Given the description of an element on the screen output the (x, y) to click on. 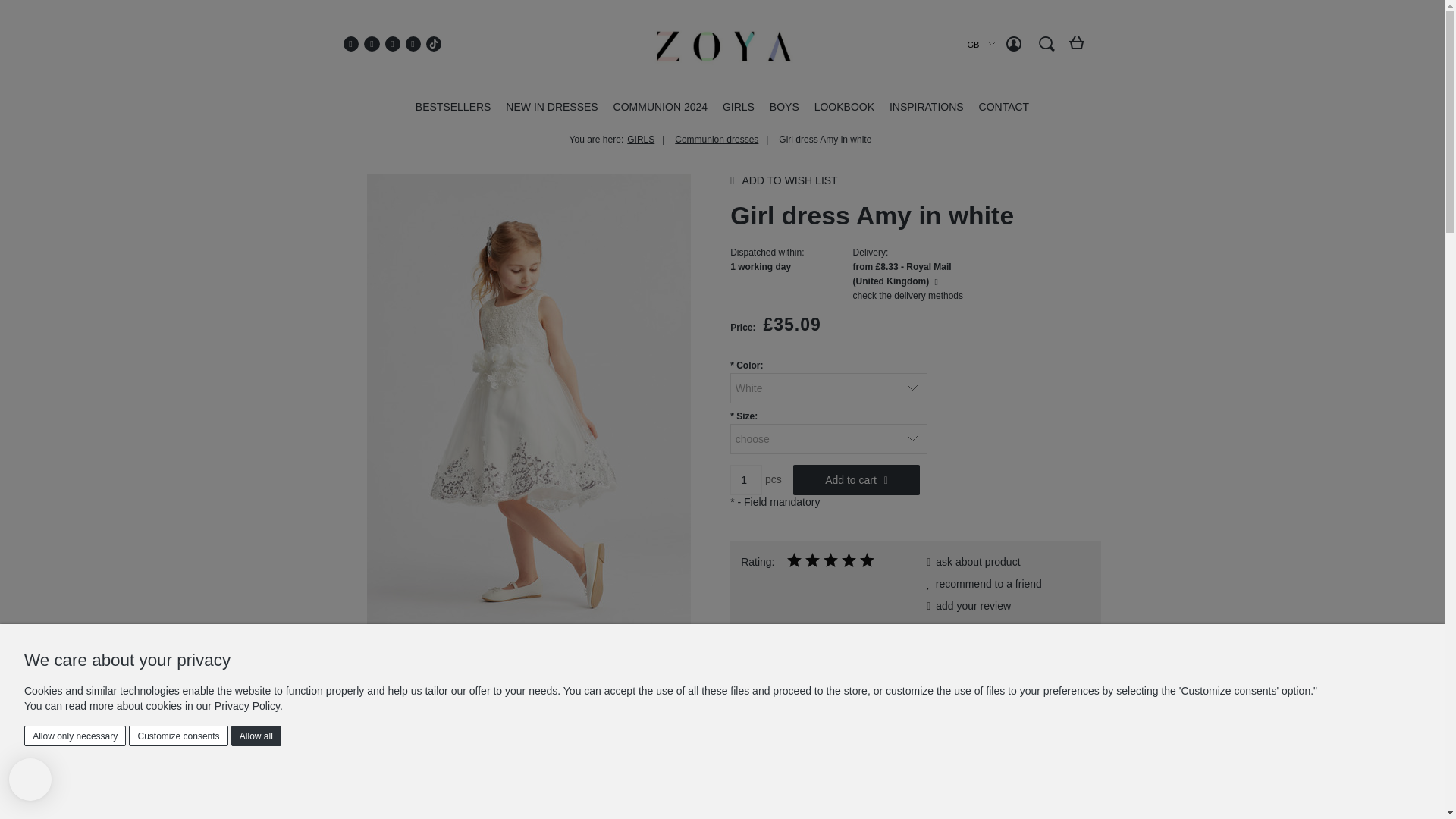
GIRLS (738, 106)
1 (745, 480)
COMMUNION 2024 (660, 106)
GB (974, 43)
BESTSELLERS (453, 106)
NEW IN DRESSES (551, 106)
Home page (721, 43)
COMMUNION 2024 (660, 106)
NEW IN DRESSES (551, 106)
BESTSELLERS (453, 106)
Cart (1078, 48)
